Given the description of an element on the screen output the (x, y) to click on. 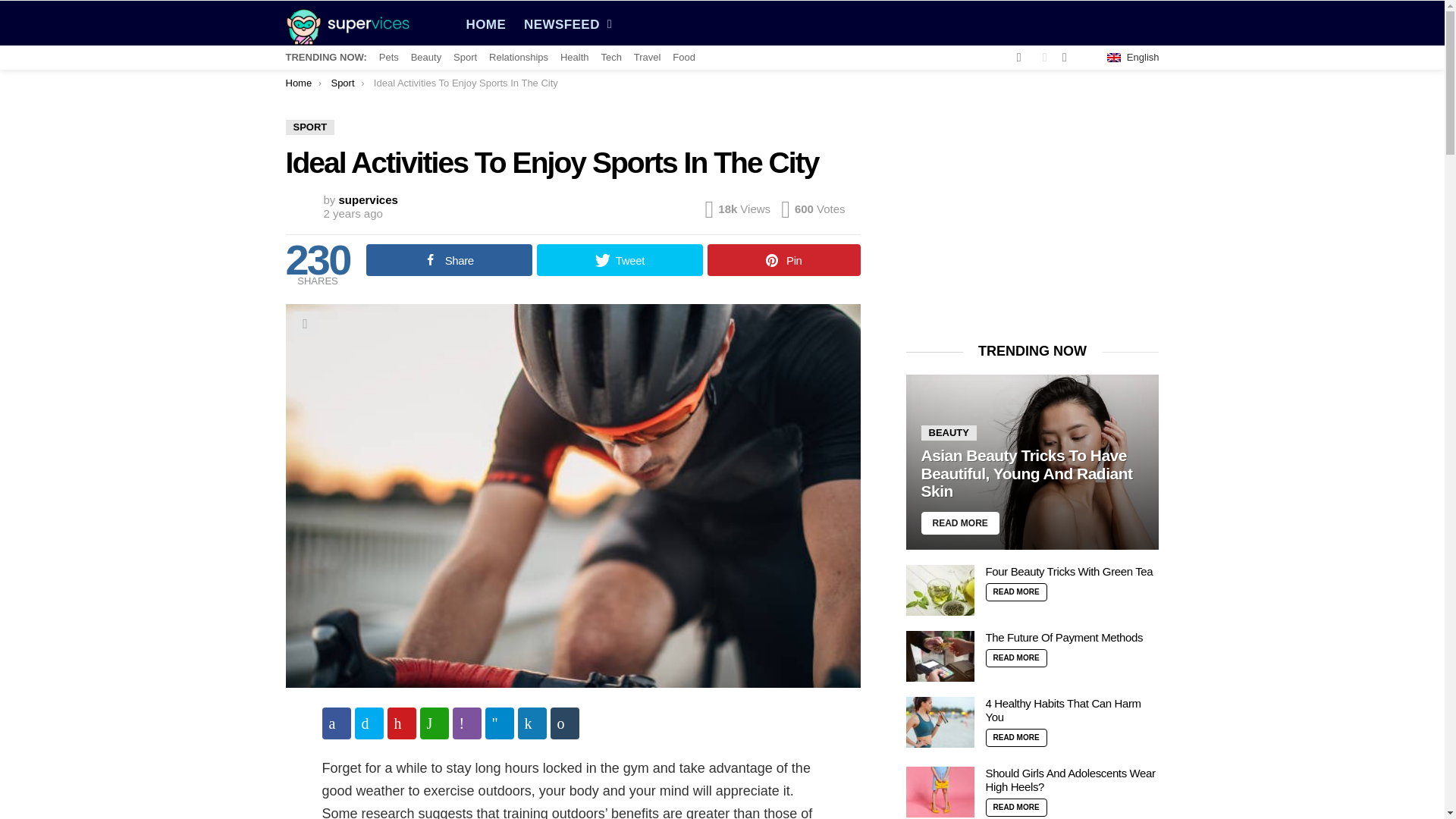
Travel (647, 57)
Sport (464, 57)
Home (298, 82)
Sport (341, 82)
English (1132, 57)
Relationships (518, 57)
instagram (1018, 57)
Share on Facebook (335, 723)
Food (683, 57)
Posts by supervices (368, 199)
HOME (485, 25)
February 4, 2022, 5:32 am (352, 213)
TRENDING NOW: (325, 57)
Health (574, 57)
